Given the description of an element on the screen output the (x, y) to click on. 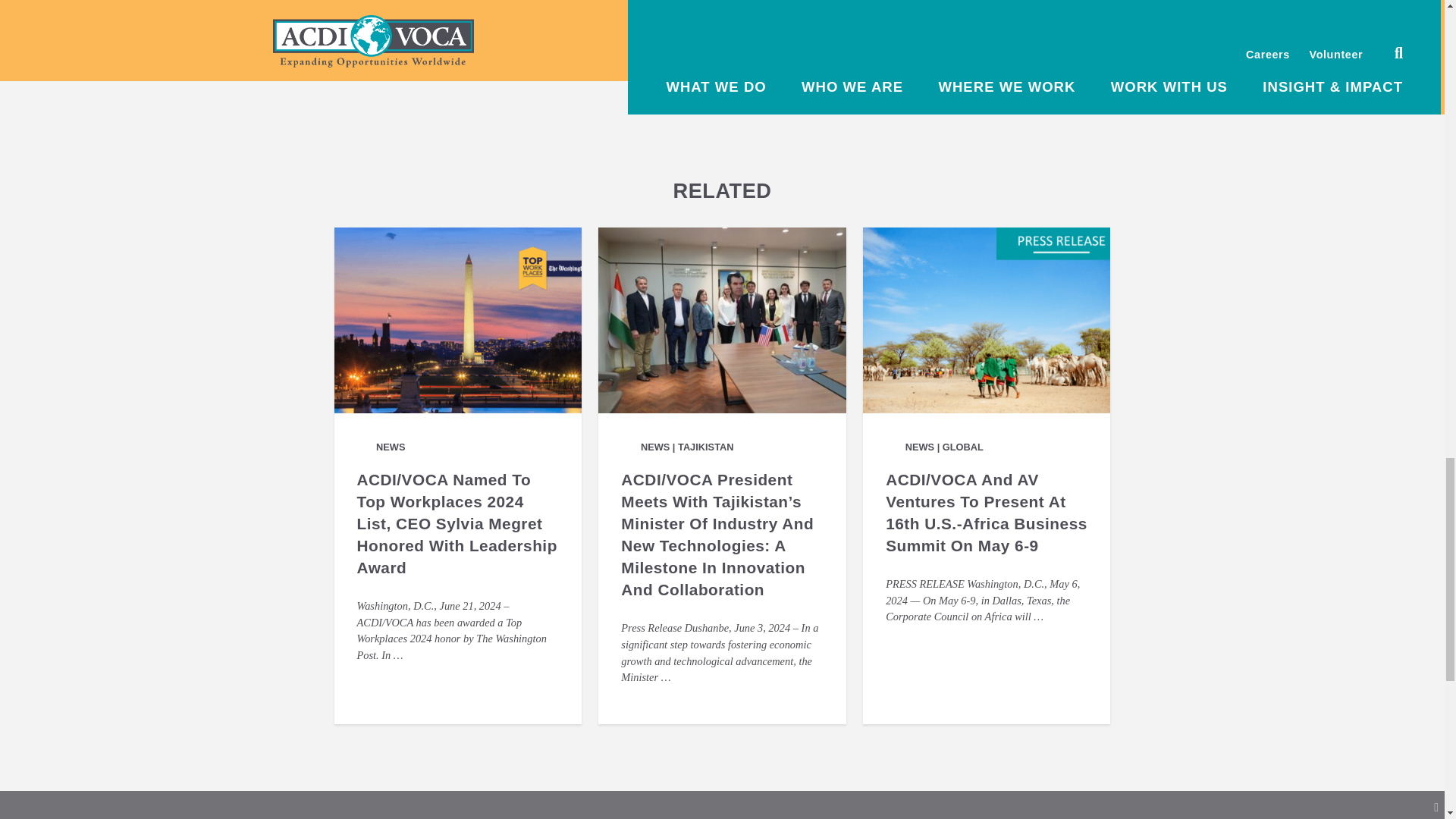
PRIVATE SECTOR PARTNERSHIPS (798, 43)
MARKET SYSTEMS (666, 43)
ACCESS TO FINANCE (564, 43)
SUSTAINABLE PRODUCTION (704, 51)
NEWS (481, 43)
